Given the description of an element on the screen output the (x, y) to click on. 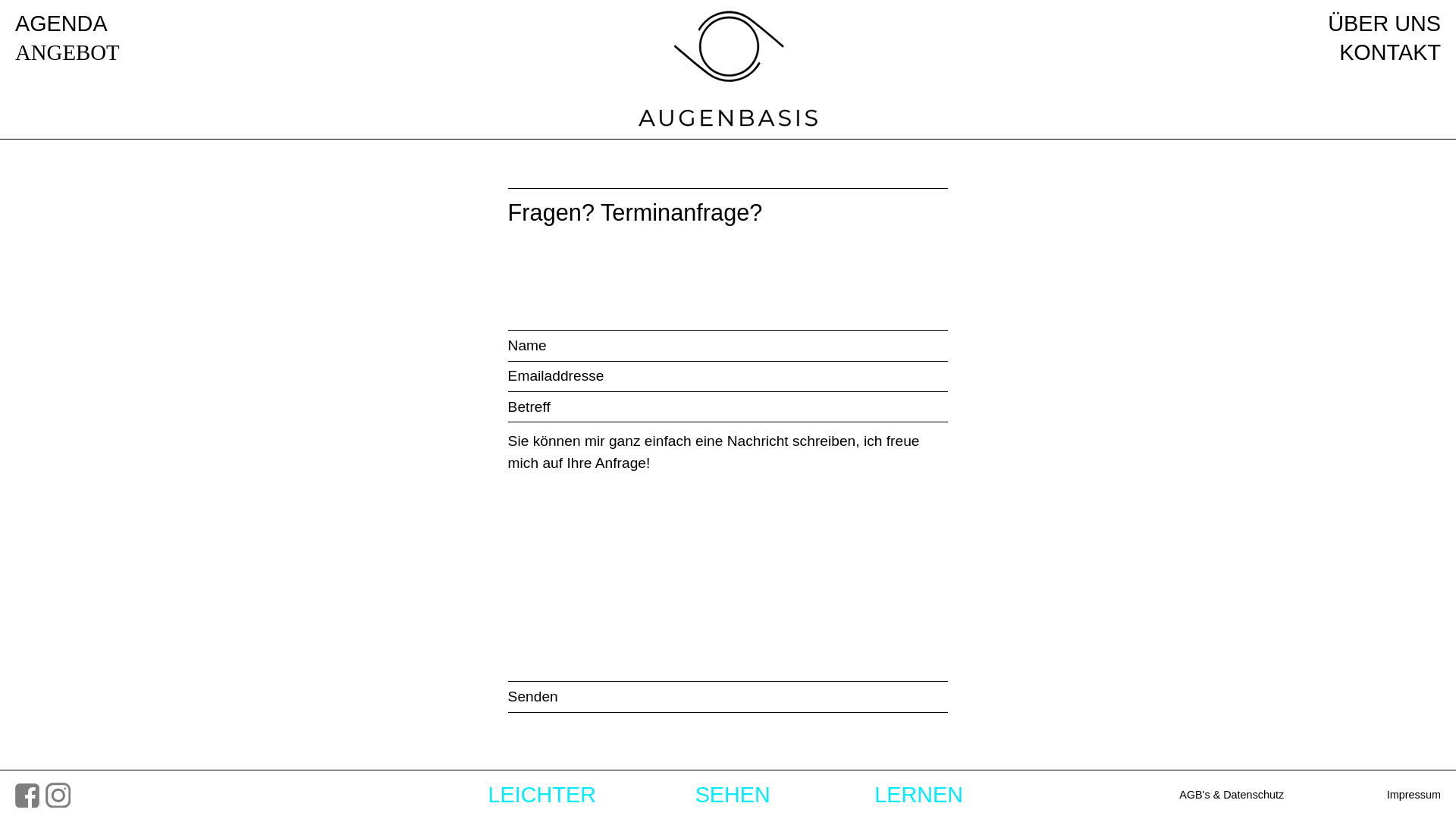
KONTAKT Element type: text (1389, 52)
Senden Element type: text (728, 696)
AGENDA Element type: text (61, 23)
ANGEBOT Element type: text (67, 52)
